Given the description of an element on the screen output the (x, y) to click on. 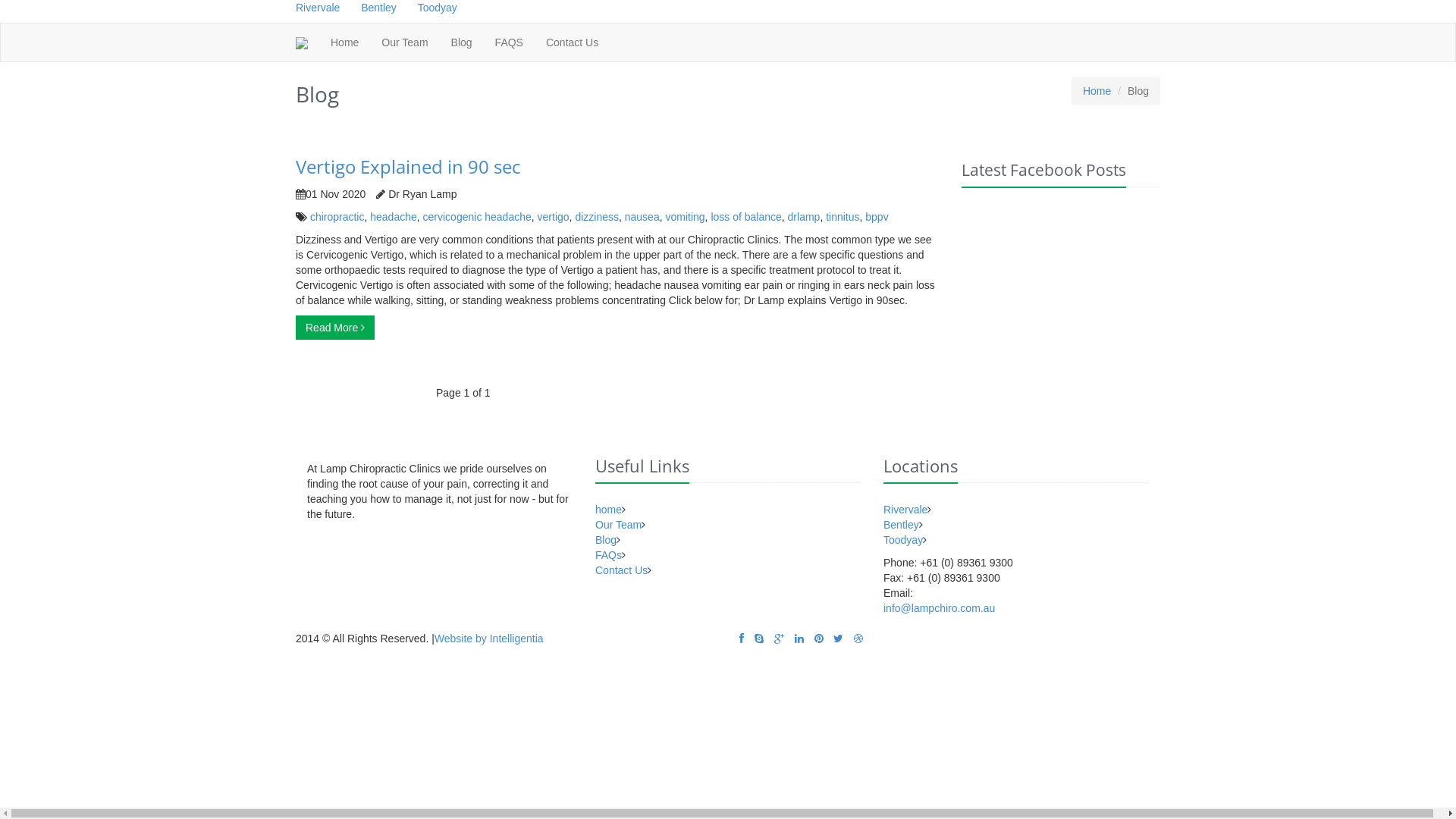
chiropractic Element type: text (337, 216)
Blog Element type: text (461, 42)
bppv Element type: text (876, 216)
Rivervale Element type: text (317, 7)
Contact Us Element type: text (571, 42)
home Element type: text (608, 509)
cervicogenic headache Element type: text (477, 216)
dizziness Element type: text (596, 216)
Toodyay Element type: text (437, 7)
vertigo Element type: text (553, 216)
headache Element type: text (393, 216)
info@lampchiro.com.au Element type: text (938, 608)
Website by Intelligentia Element type: text (488, 638)
Bentley Element type: text (378, 7)
Home Element type: text (1096, 90)
FAQS Element type: text (508, 42)
Bentley Element type: text (901, 524)
nausea Element type: text (641, 216)
Read More Element type: text (334, 327)
loss of balance Element type: text (745, 216)
Blog Element type: text (605, 539)
Toodyay Element type: text (902, 539)
Our Team Element type: text (404, 42)
Vertigo Explained in 90 sec Element type: text (407, 165)
drlamp Element type: text (803, 216)
Our Team Element type: text (618, 524)
tinnitus Element type: text (842, 216)
Rivervale Element type: text (905, 509)
FAQs Element type: text (608, 555)
Home Element type: text (344, 42)
vomiting Element type: text (684, 216)
Contact Us Element type: text (621, 570)
